Given the description of an element on the screen output the (x, y) to click on. 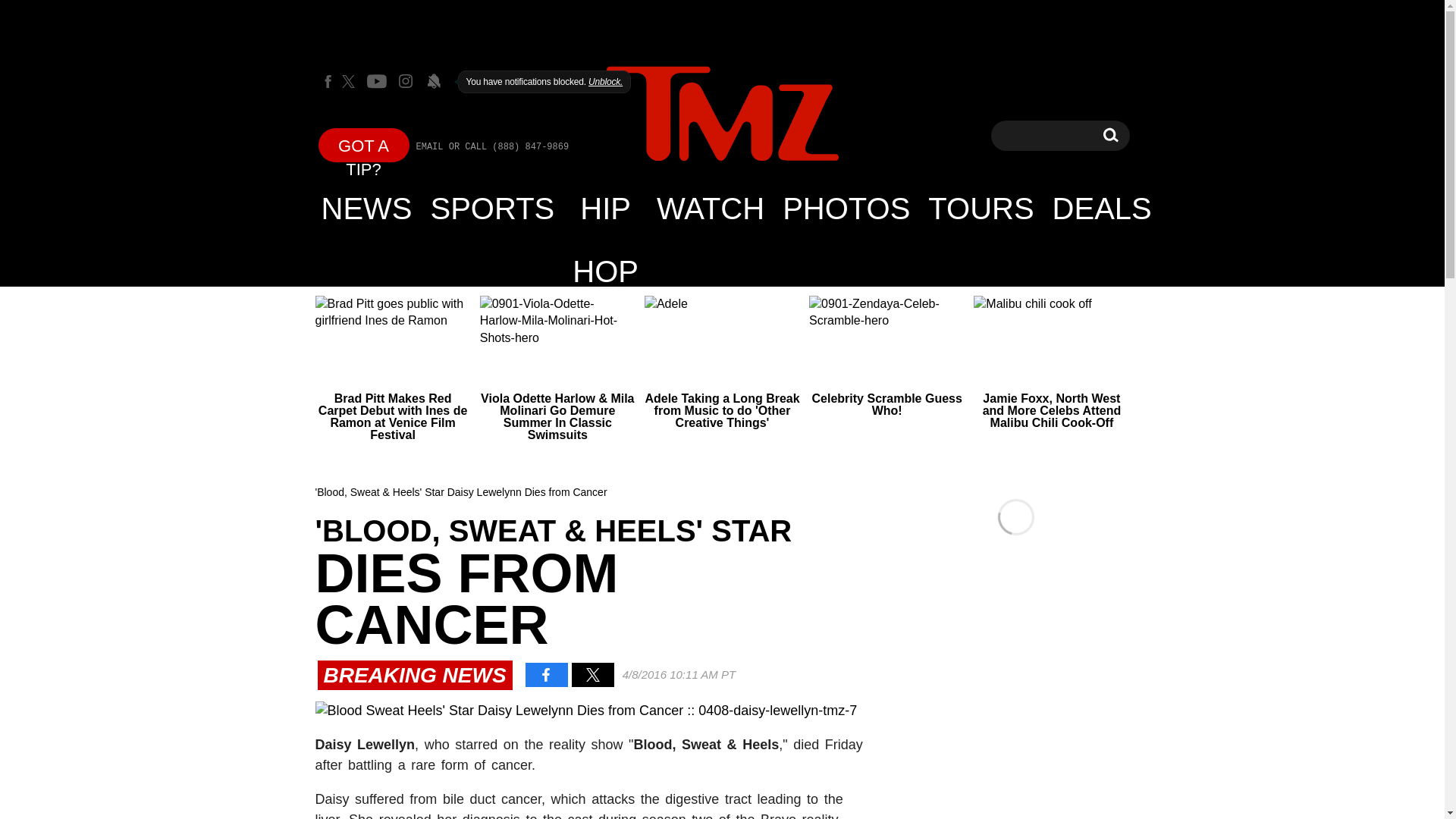
NEWS (367, 207)
TMZ (722, 115)
GOT A TIP? (363, 144)
TOURS (980, 207)
Search (1110, 134)
SPORTS (493, 207)
HIP HOP (605, 207)
WATCH (710, 207)
